Given the description of an element on the screen output the (x, y) to click on. 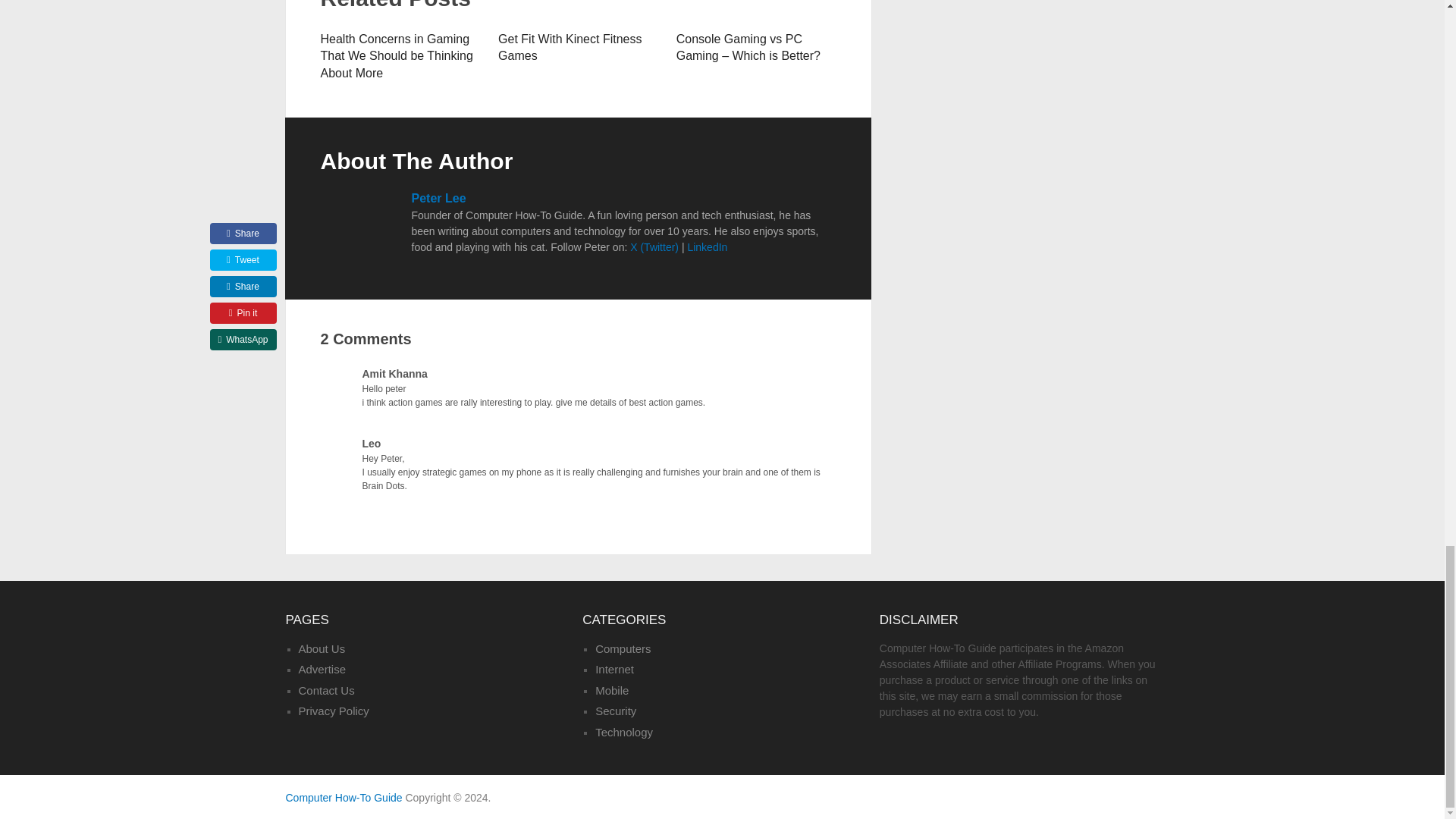
Get Fit With Kinect Fitness Games (569, 47)
